Given the description of an element on the screen output the (x, y) to click on. 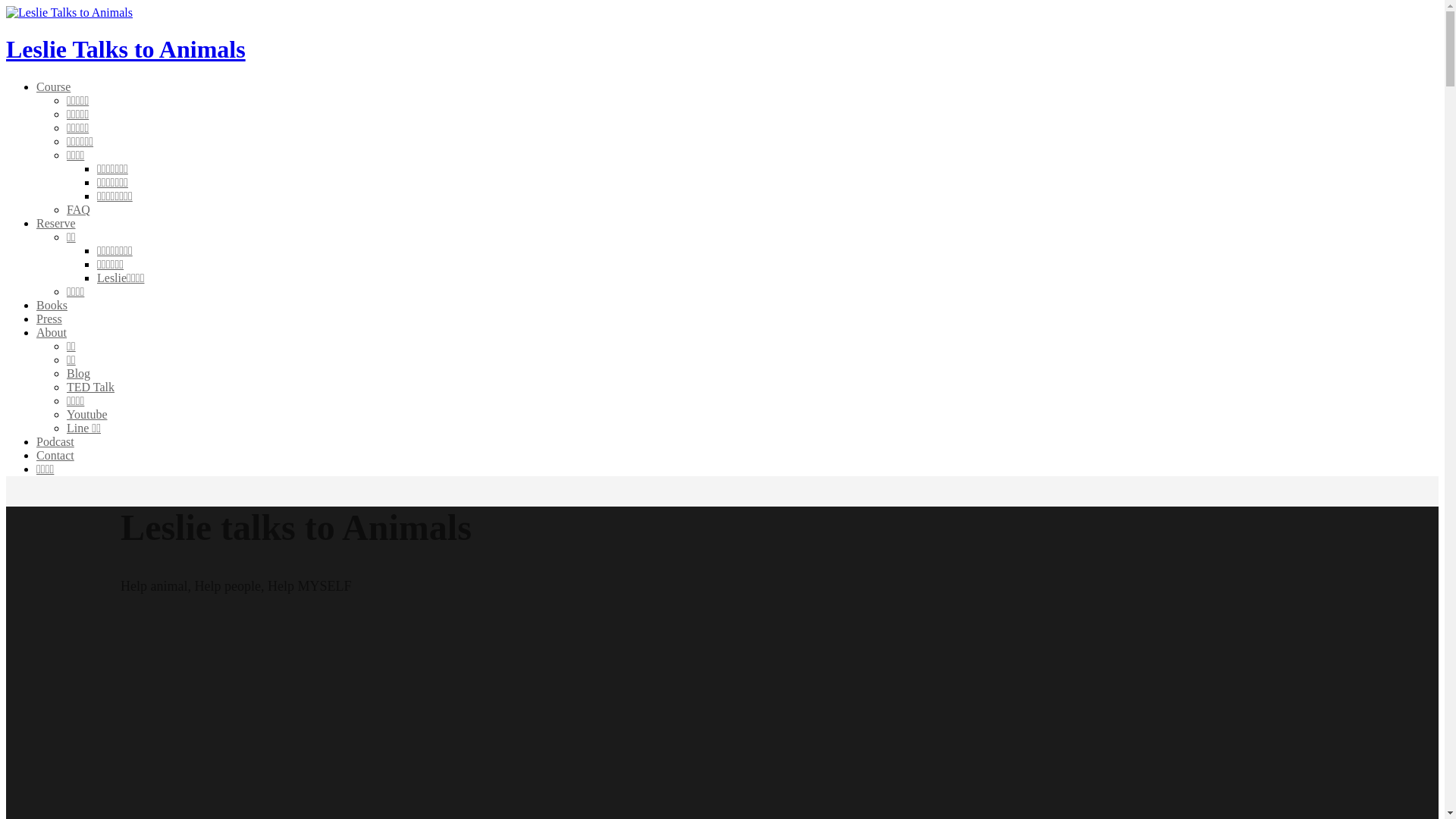
Youtube Element type: text (86, 413)
Reserve Element type: text (55, 222)
Leslie Talks to Animals Element type: text (125, 48)
FAQ Element type: text (78, 209)
About Element type: text (51, 332)
Contact Element type: text (55, 454)
Press Element type: text (49, 318)
TED Talk Element type: text (90, 386)
Course Element type: text (53, 86)
Blog Element type: text (78, 373)
Podcast Element type: text (55, 441)
Books Element type: text (51, 304)
